Given the description of an element on the screen output the (x, y) to click on. 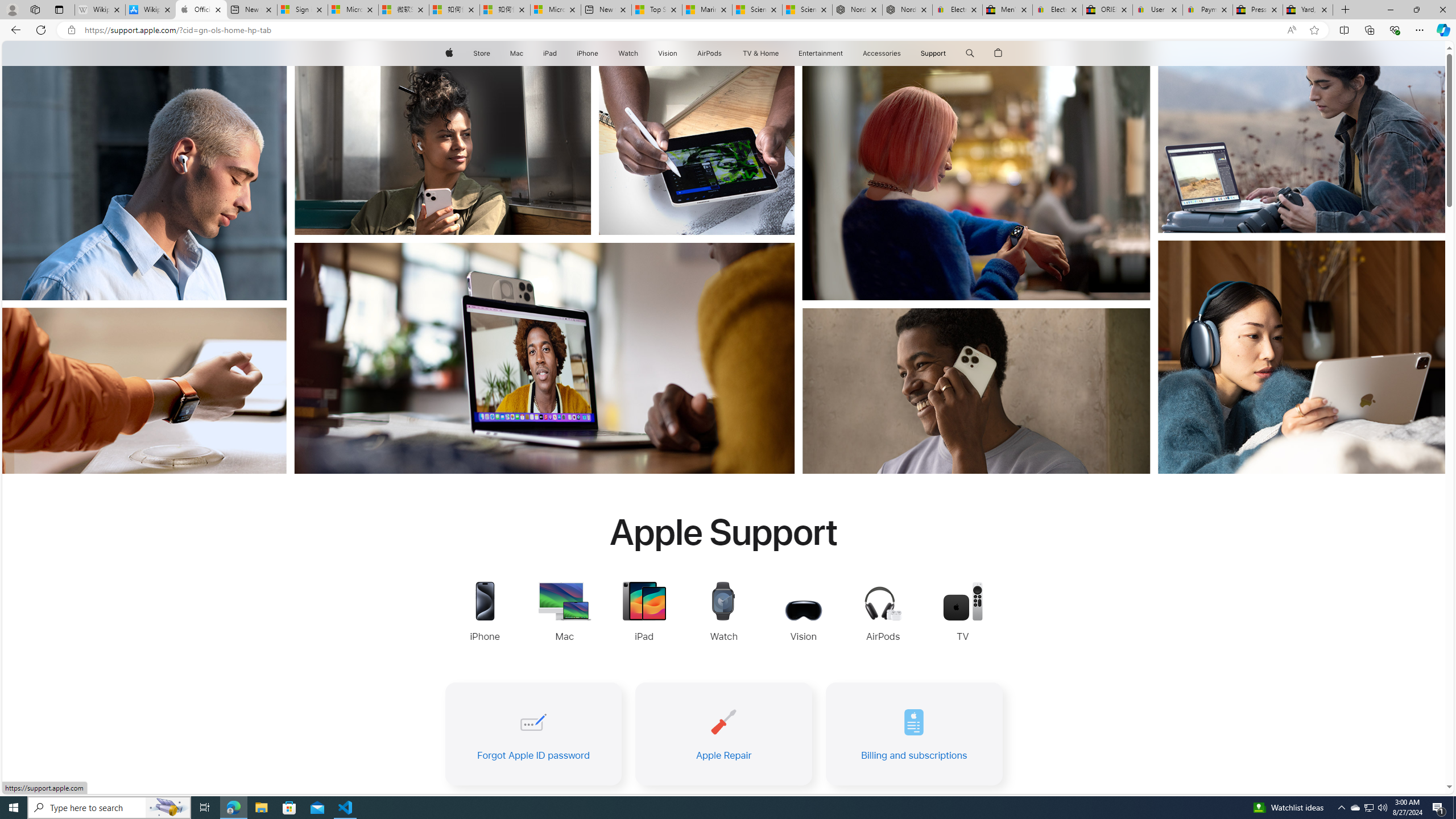
Class: globalnav-item globalnav-search shift-0-1 (969, 53)
Shopping Bag (998, 53)
TV and Home menu (780, 53)
Yard, Garden & Outdoor Living (1308, 9)
Vision (667, 53)
Vision (667, 53)
Watch (627, 53)
Sign in to your Microsoft account (302, 9)
Microsoft Services Agreement (352, 9)
